Given the description of an element on the screen output the (x, y) to click on. 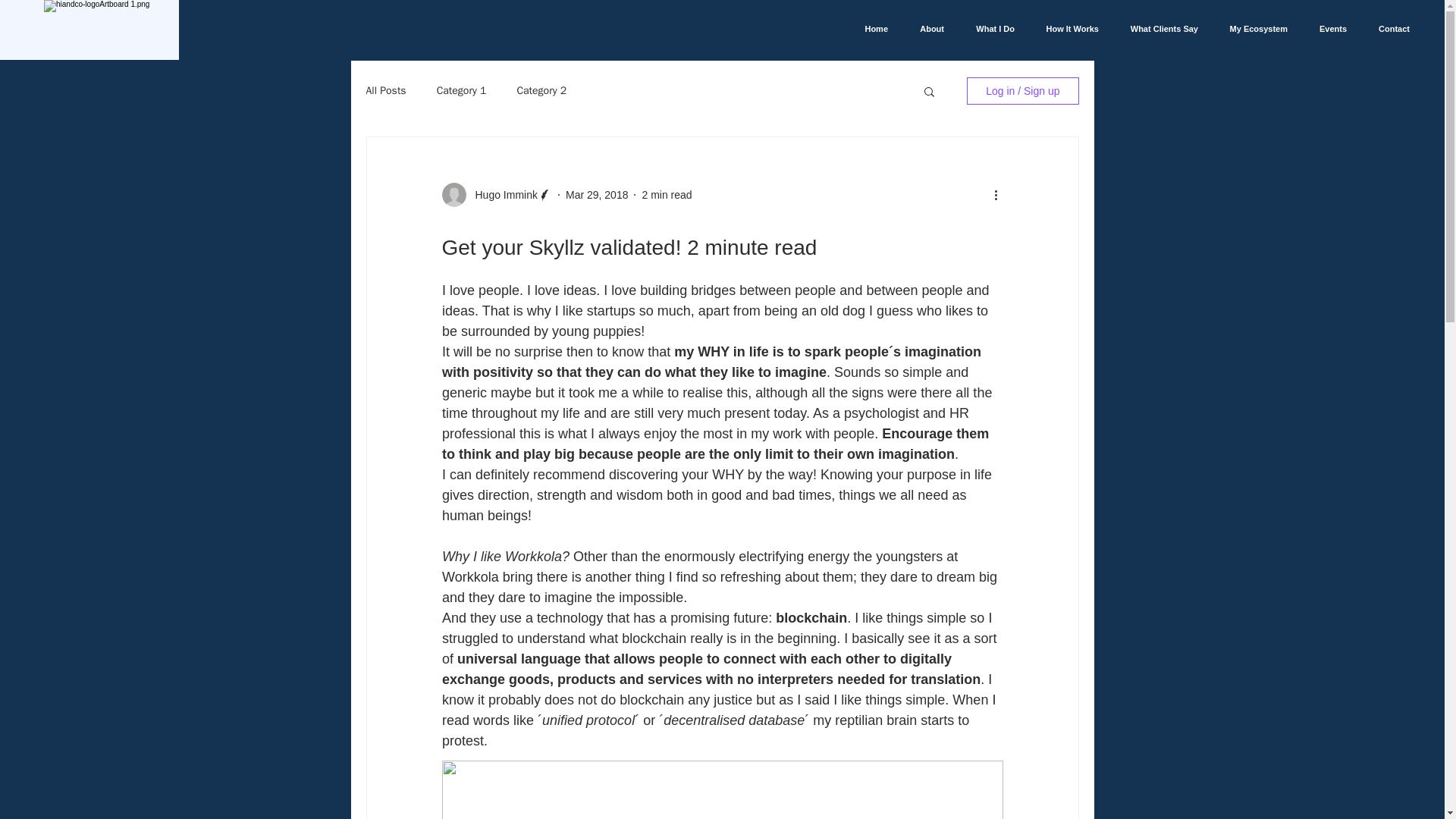
Contact (1389, 28)
How It Works (1067, 28)
Category 2 (541, 90)
What Clients Say (1159, 28)
My Ecosystem (1253, 28)
All Posts (385, 90)
What I Do (990, 28)
About (927, 28)
2 min read (666, 193)
Hugo Immink (501, 194)
Category 1 (461, 90)
Events (1328, 28)
Home (871, 28)
Mar 29, 2018 (597, 193)
